Given the description of an element on the screen output the (x, y) to click on. 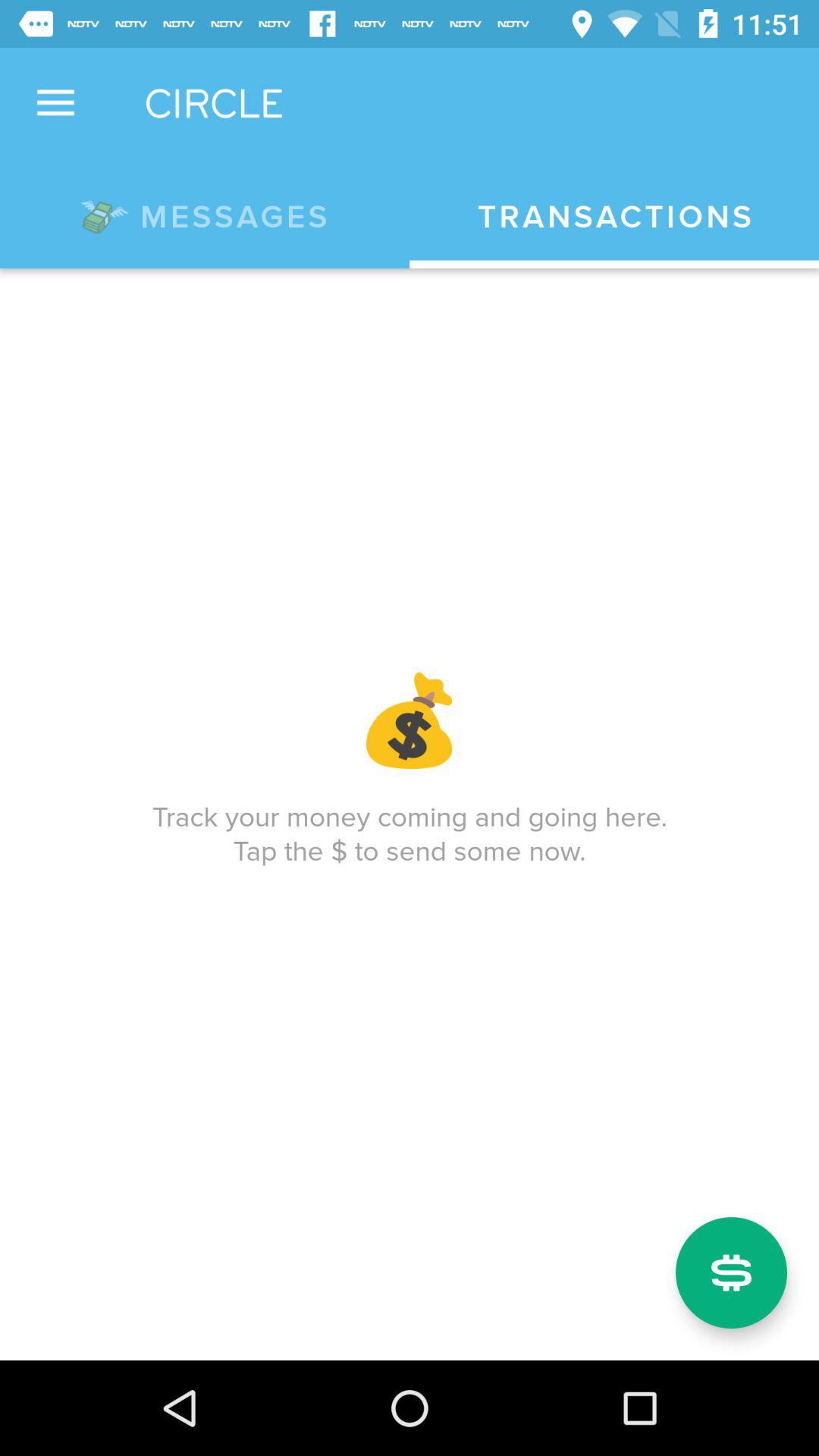
press the item at the bottom right corner (731, 1272)
